Given the description of an element on the screen output the (x, y) to click on. 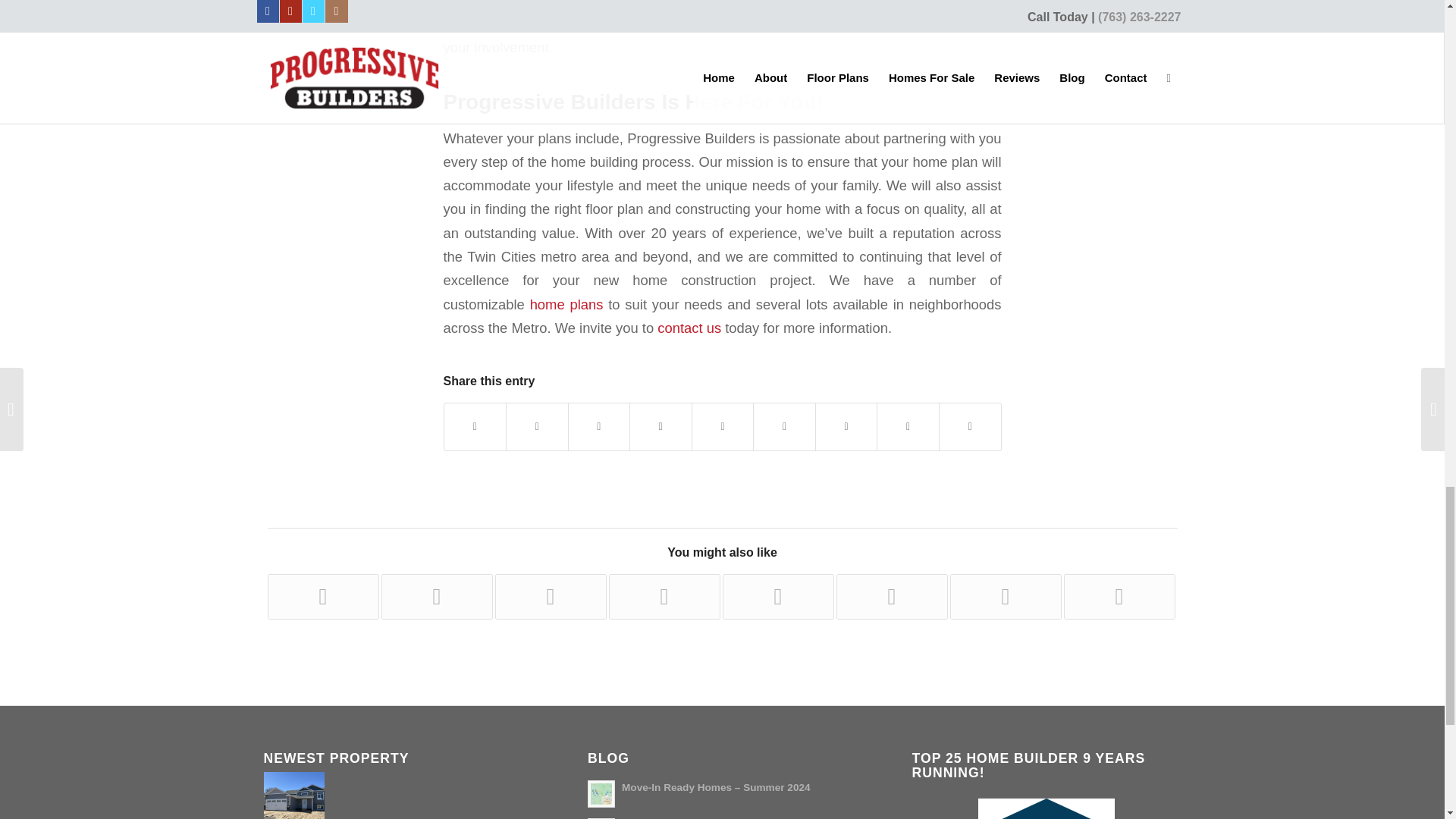
contact us (689, 327)
Top 3 Ways to Help Find the Right Builder for Your New Home (322, 596)
home plans (566, 303)
